Given the description of an element on the screen output the (x, y) to click on. 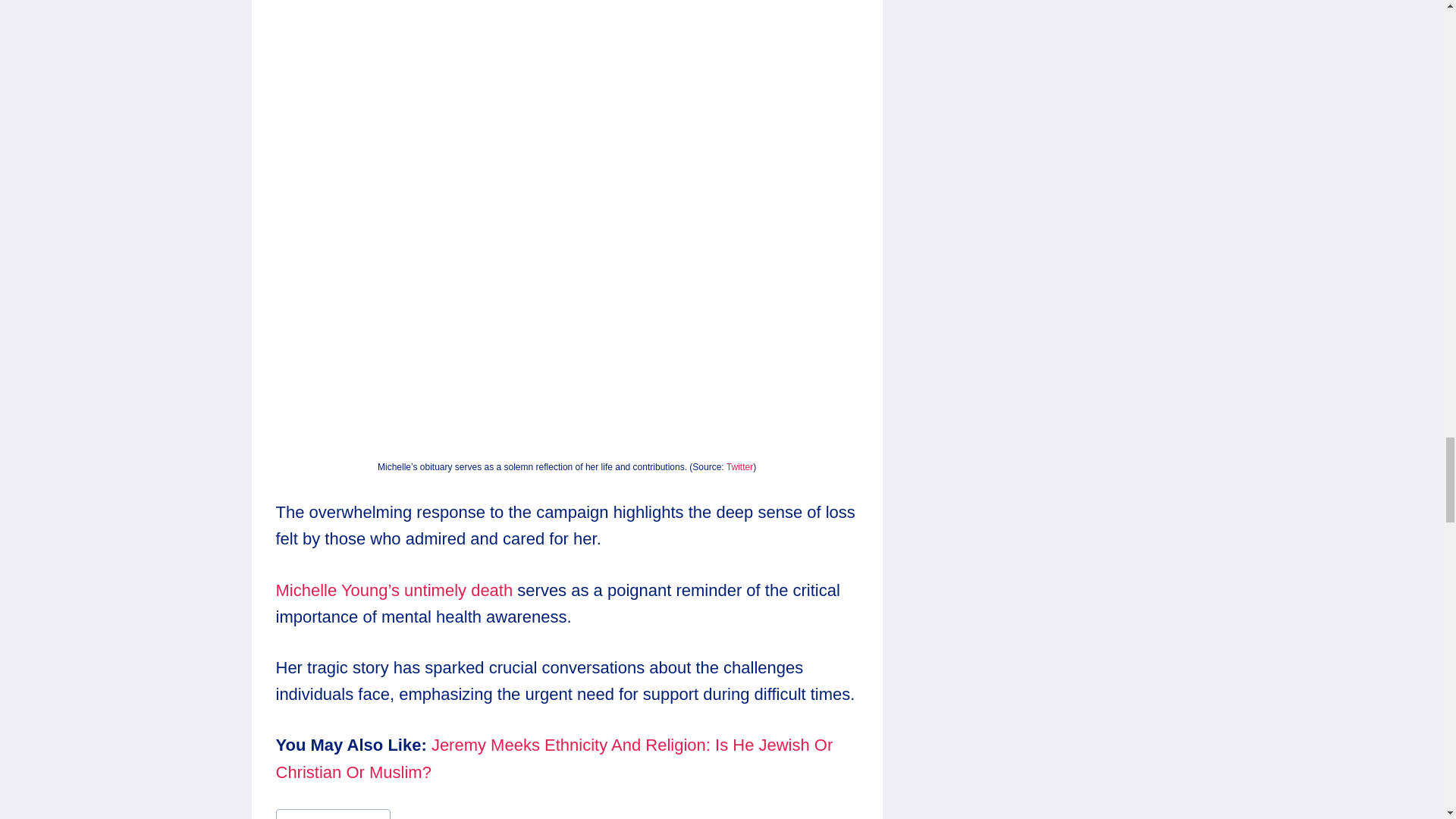
Twitter (739, 466)
Michelle Young (333, 814)
